Given the description of an element on the screen output the (x, y) to click on. 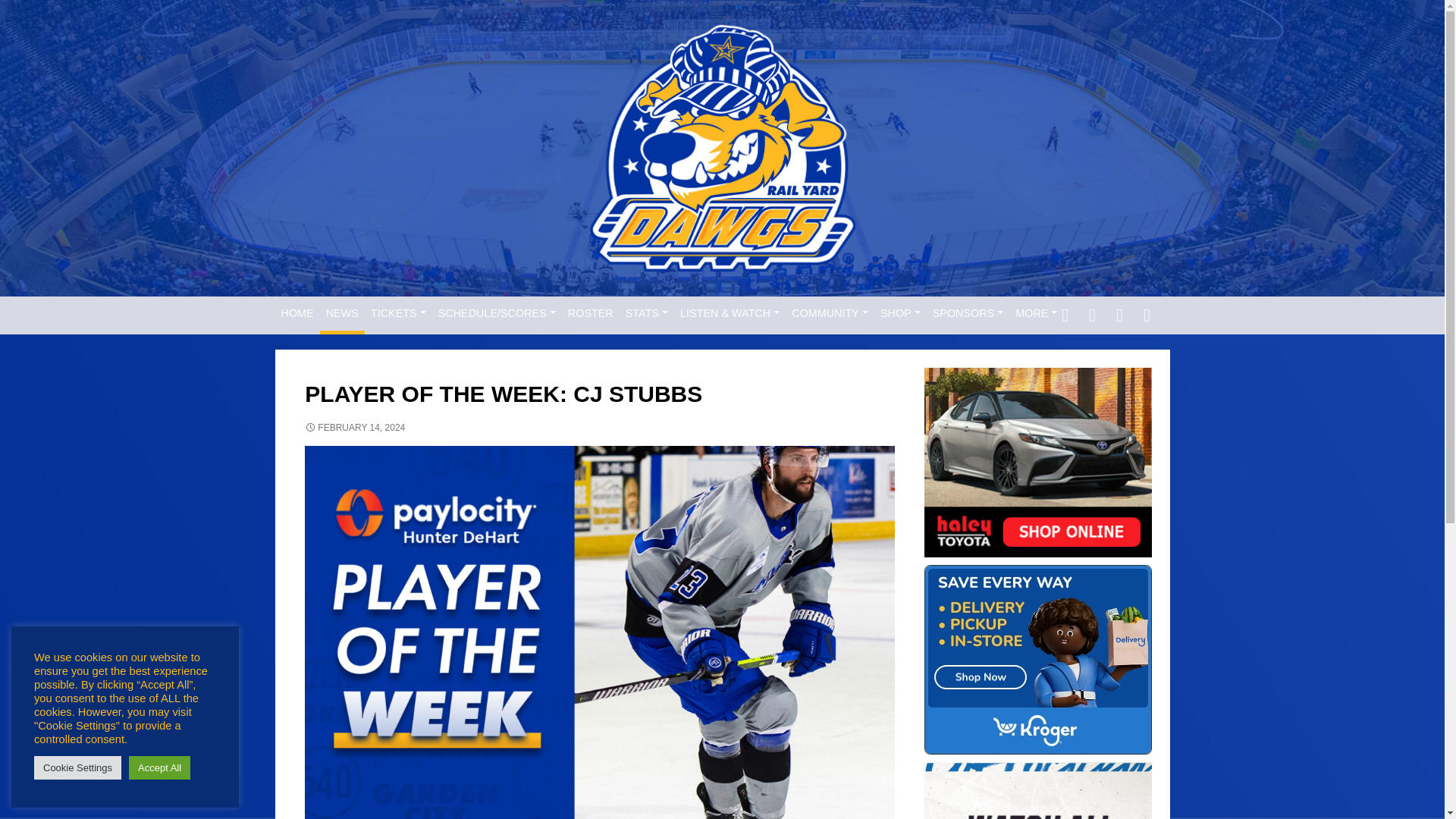
TICKETS (398, 313)
COMMUNITY (830, 313)
PLAYER OF THE WEEK: CJ STUBBS (1037, 790)
ROSTER (591, 313)
SPONSORS (968, 313)
SHOP (900, 313)
HOME (296, 313)
STATS (647, 313)
Haley Home Page Ad Updated 091123 copy (1037, 462)
NEWS (342, 313)
